Given the description of an element on the screen output the (x, y) to click on. 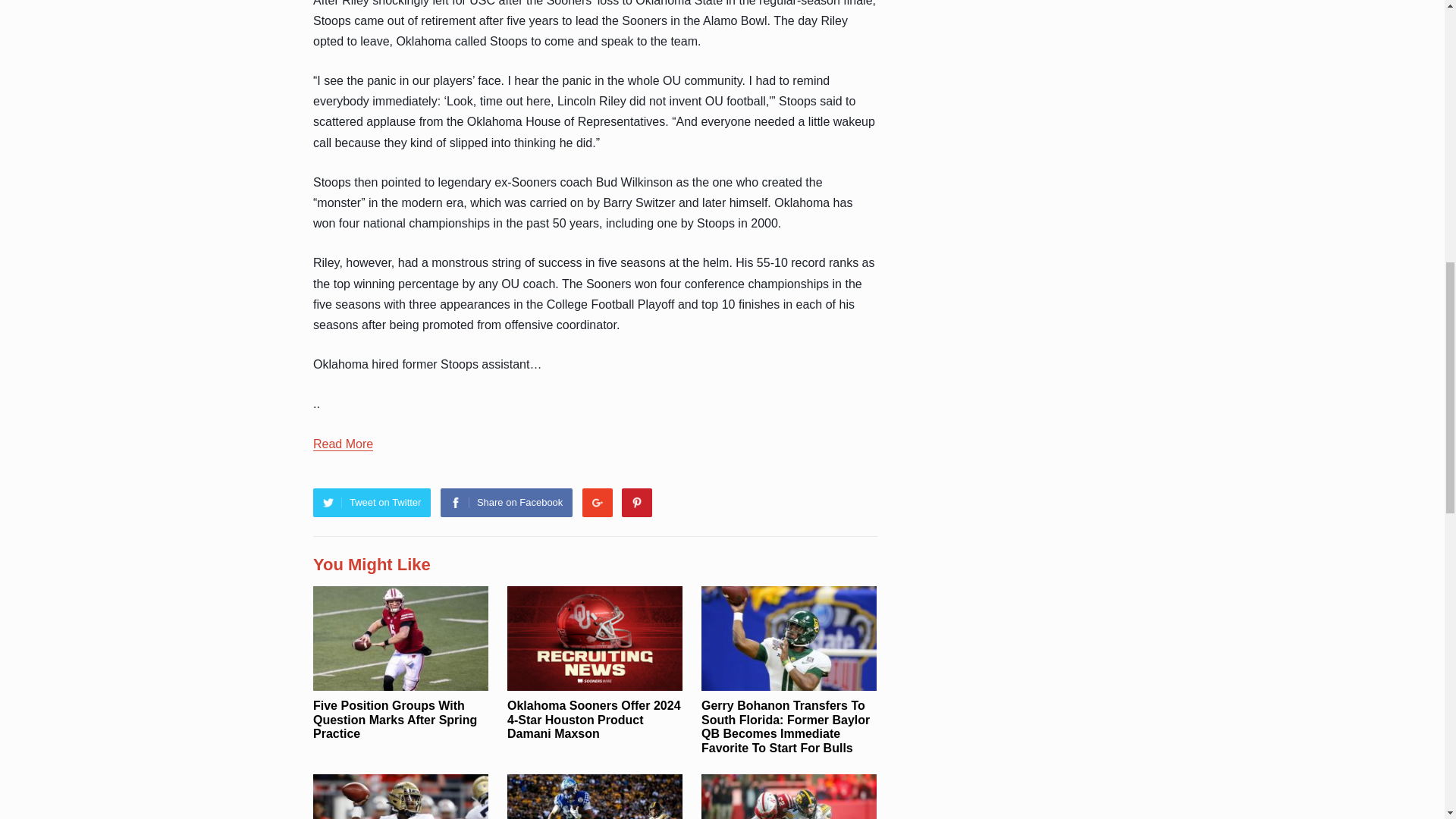
Tweet on Twitter (371, 502)
Share on Facebook (506, 502)
Pinterest (636, 502)
Read More (342, 444)
